Given the description of an element on the screen output the (x, y) to click on. 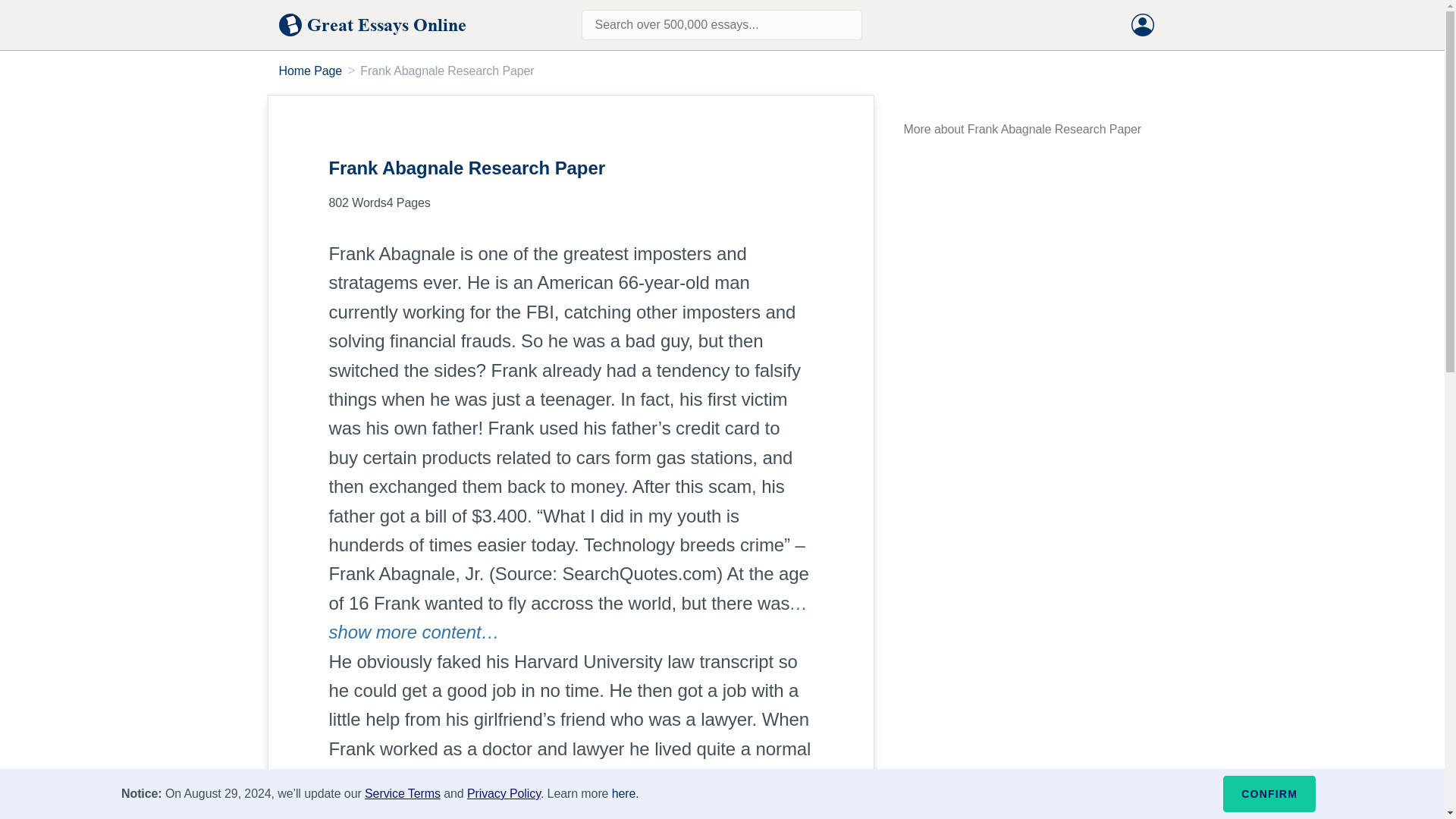
Privacy Policy (503, 793)
Home Page (310, 70)
Service Terms (403, 793)
here. (625, 793)
CONFIRM (1269, 793)
